Given the description of an element on the screen output the (x, y) to click on. 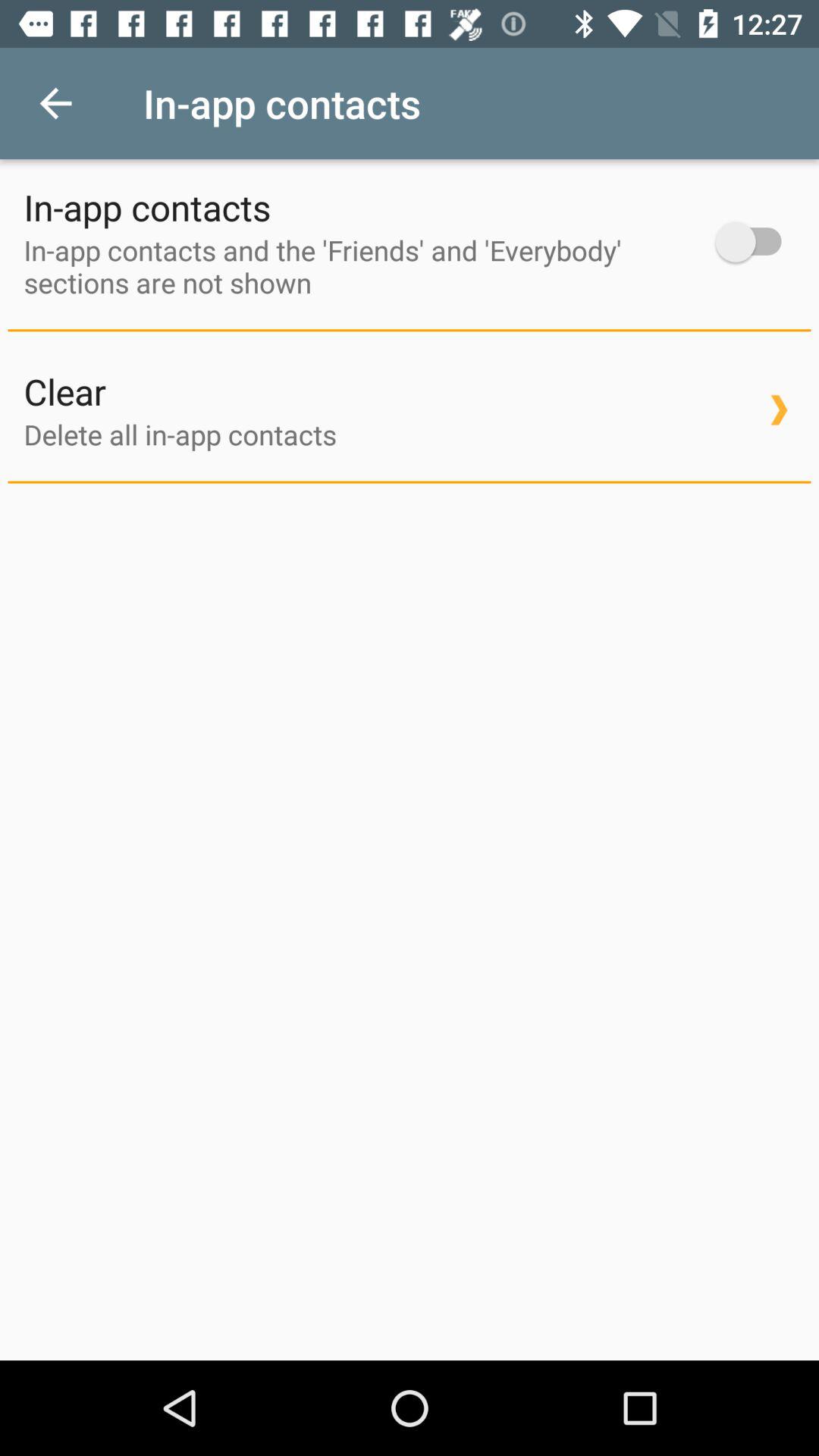
on/off toggle (755, 241)
